Given the description of an element on the screen output the (x, y) to click on. 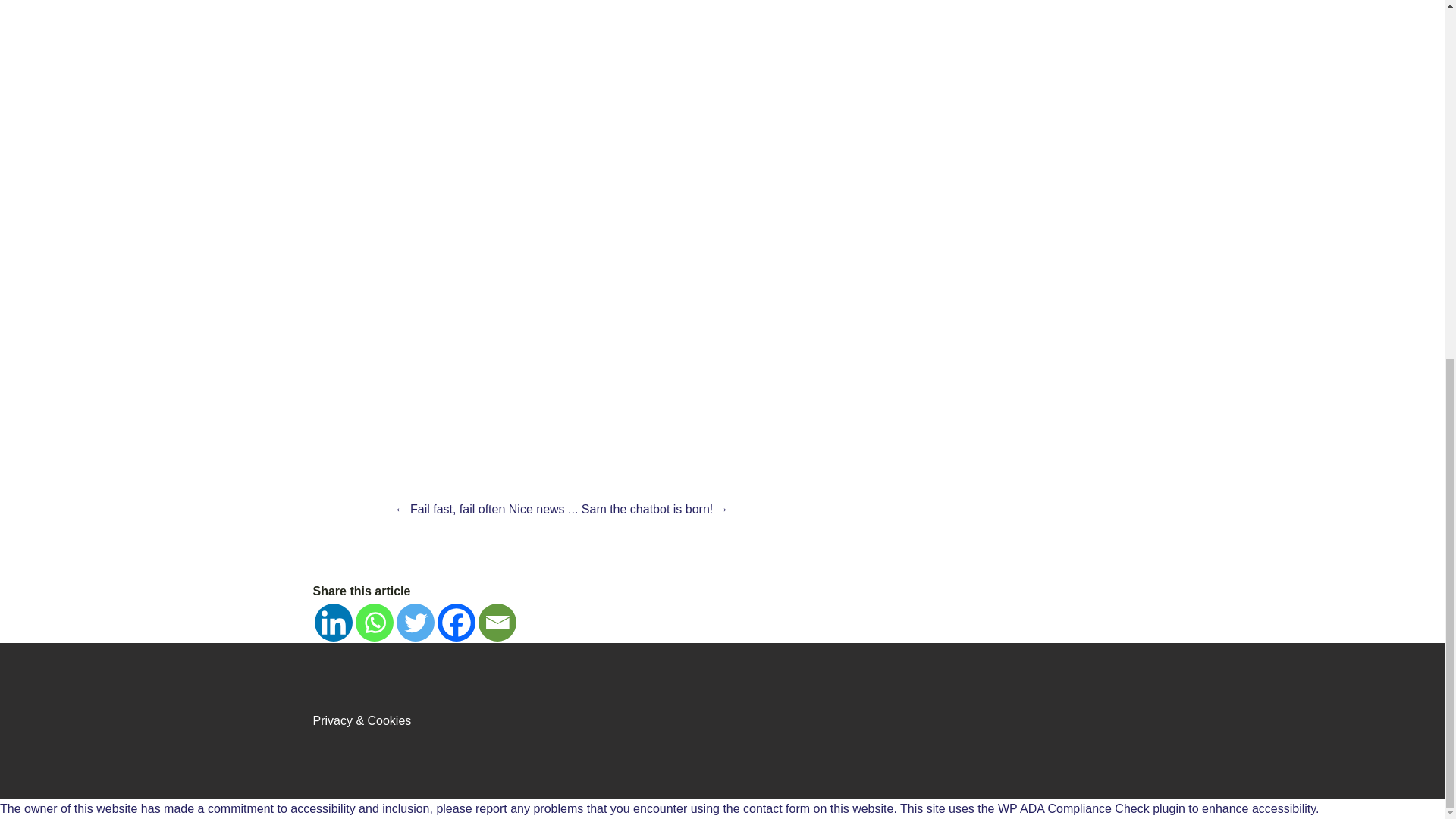
Whatsapp (374, 622)
Linkedin (333, 622)
Twitter (414, 622)
E-mail (496, 622)
Facebook (455, 622)
